Given the description of an element on the screen output the (x, y) to click on. 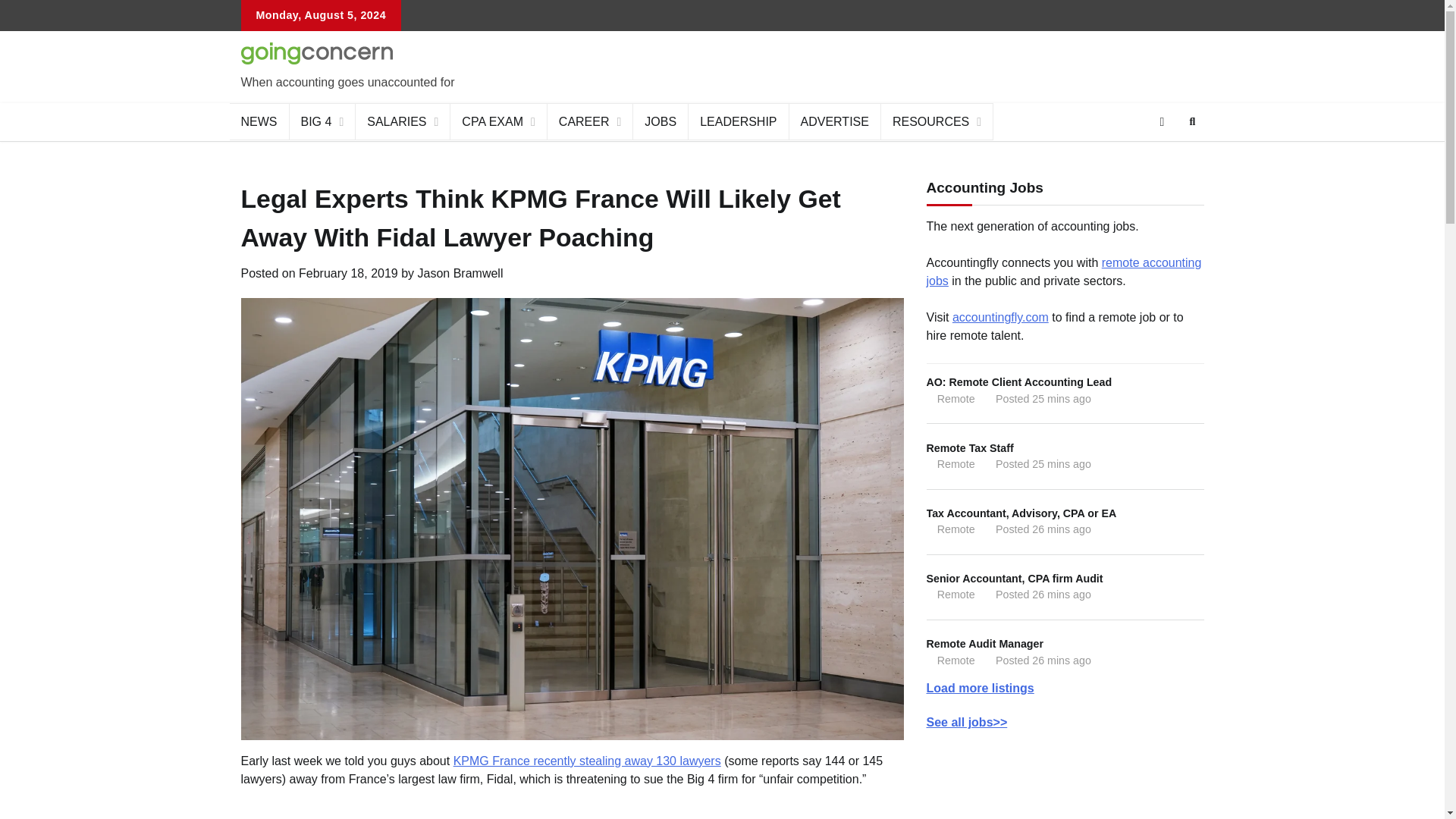
KPMG France recently stealing away 130 lawyers (586, 760)
February 18, 2019 (347, 273)
ADVERTISE (834, 121)
JOBS (660, 121)
SALARIES (402, 121)
Jason Bramwell (460, 273)
RESOURCES (936, 121)
CPA EXAM (498, 121)
CAREER (590, 121)
Search (1164, 157)
